Given the description of an element on the screen output the (x, y) to click on. 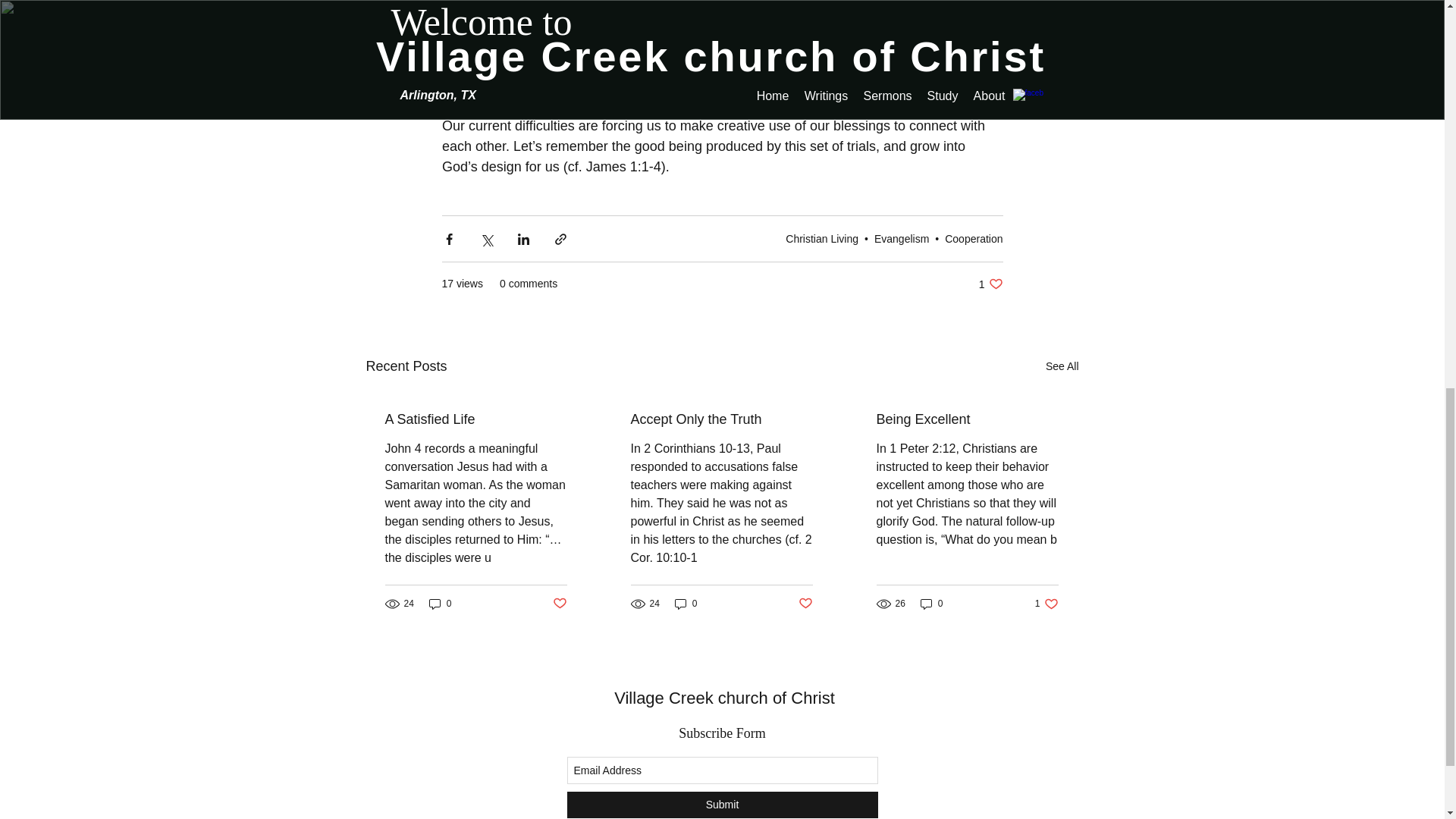
Accept Only the Truth (721, 419)
Village Creek church of Christ (990, 283)
Cooperation (724, 697)
A Satisfied Life (973, 237)
Post not marked as liked (476, 419)
0 (804, 603)
Post not marked as liked (685, 603)
Evangelism (558, 603)
Christian Living (901, 237)
Submit (822, 237)
See All (722, 804)
0 (1061, 366)
Being Excellent (440, 603)
0 (967, 419)
